Given the description of an element on the screen output the (x, y) to click on. 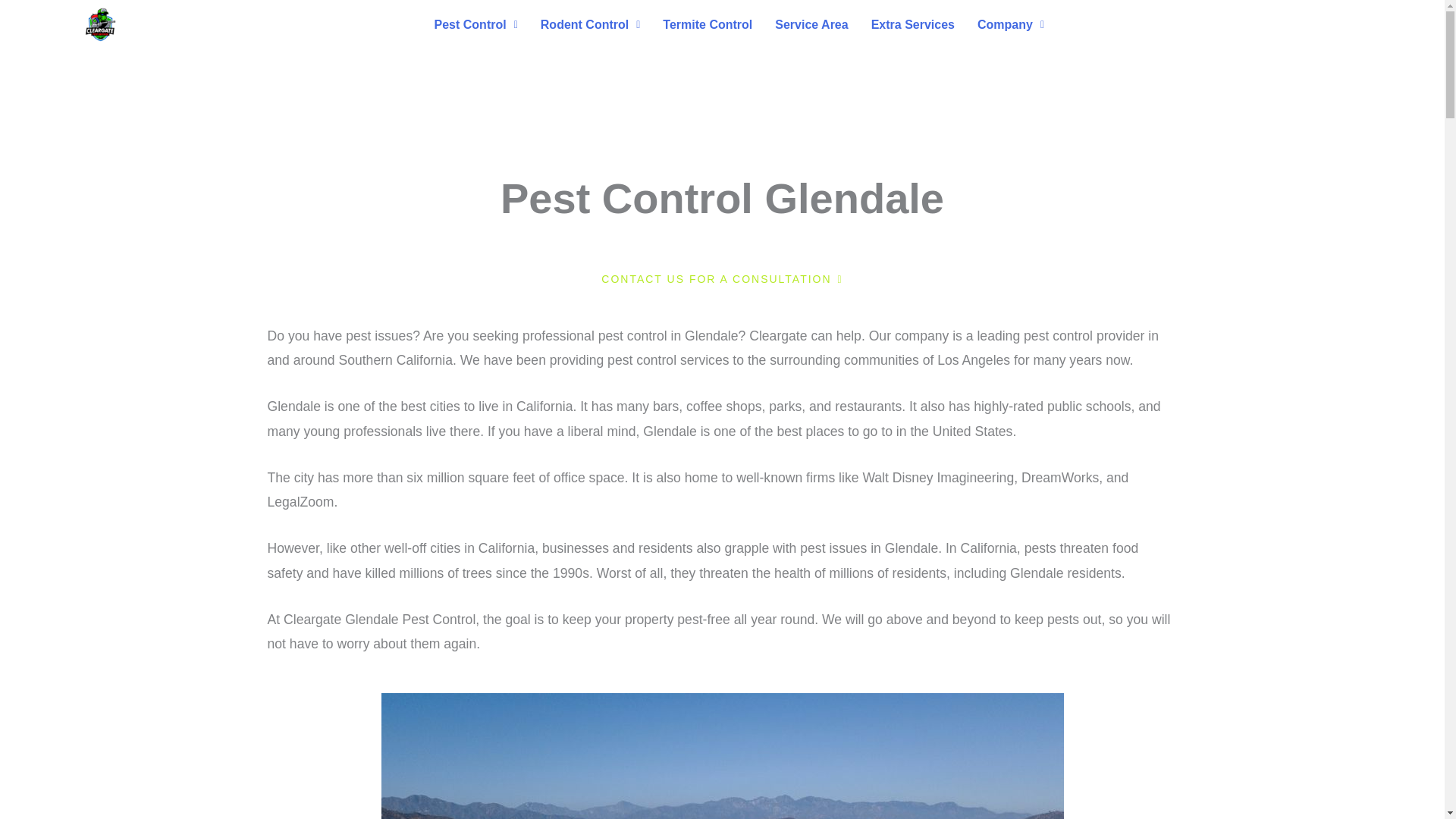
Rodent Control (590, 24)
Service Area (810, 24)
Extra Services (913, 24)
Termite Control (706, 24)
Pest Control (476, 24)
Company (1010, 24)
